Given the description of an element on the screen output the (x, y) to click on. 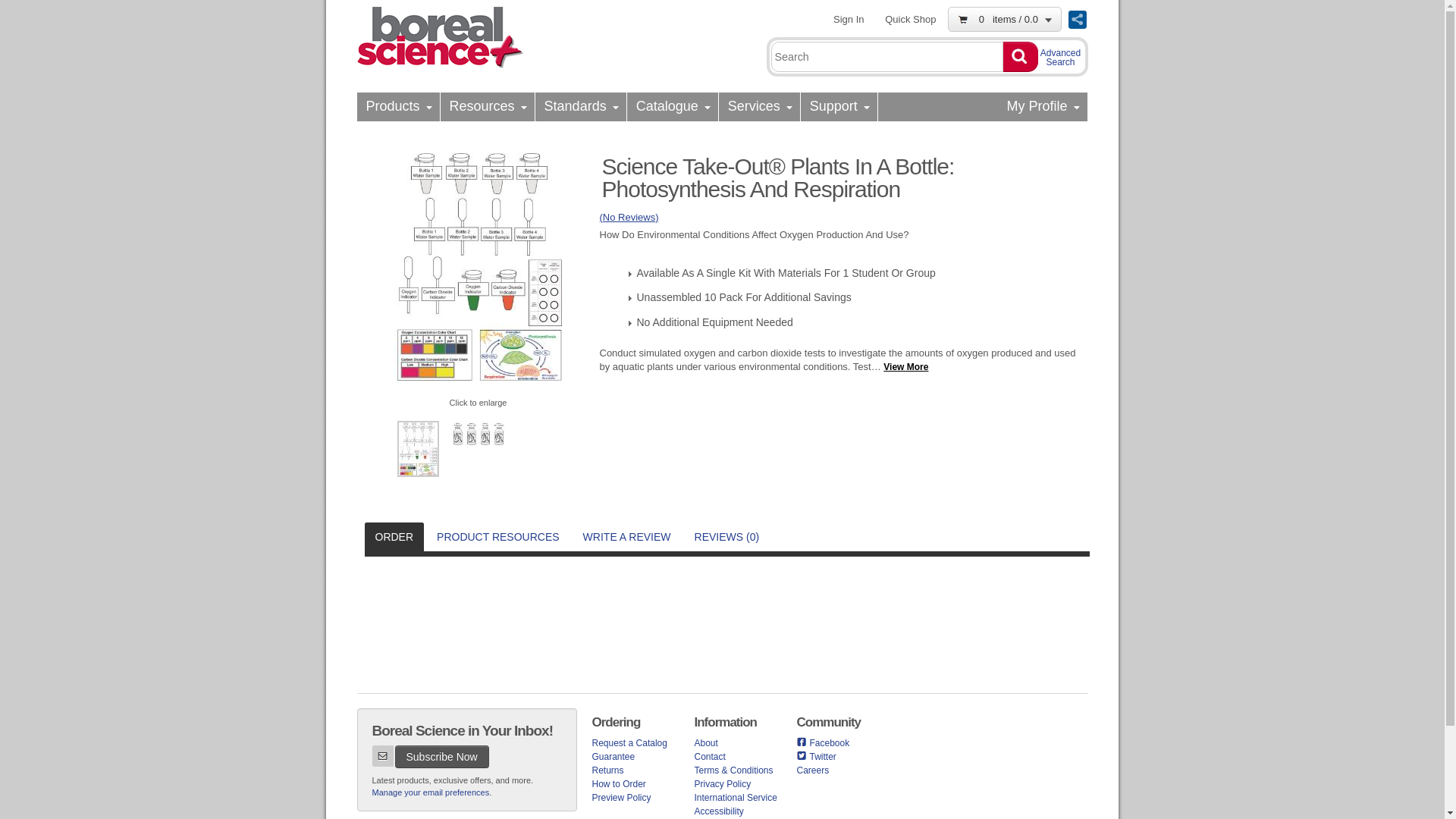
goButton (1019, 56)
Advanced Search (1059, 53)
Quick Shop (910, 19)
Products (397, 106)
Sign In (848, 19)
